Given the description of an element on the screen output the (x, y) to click on. 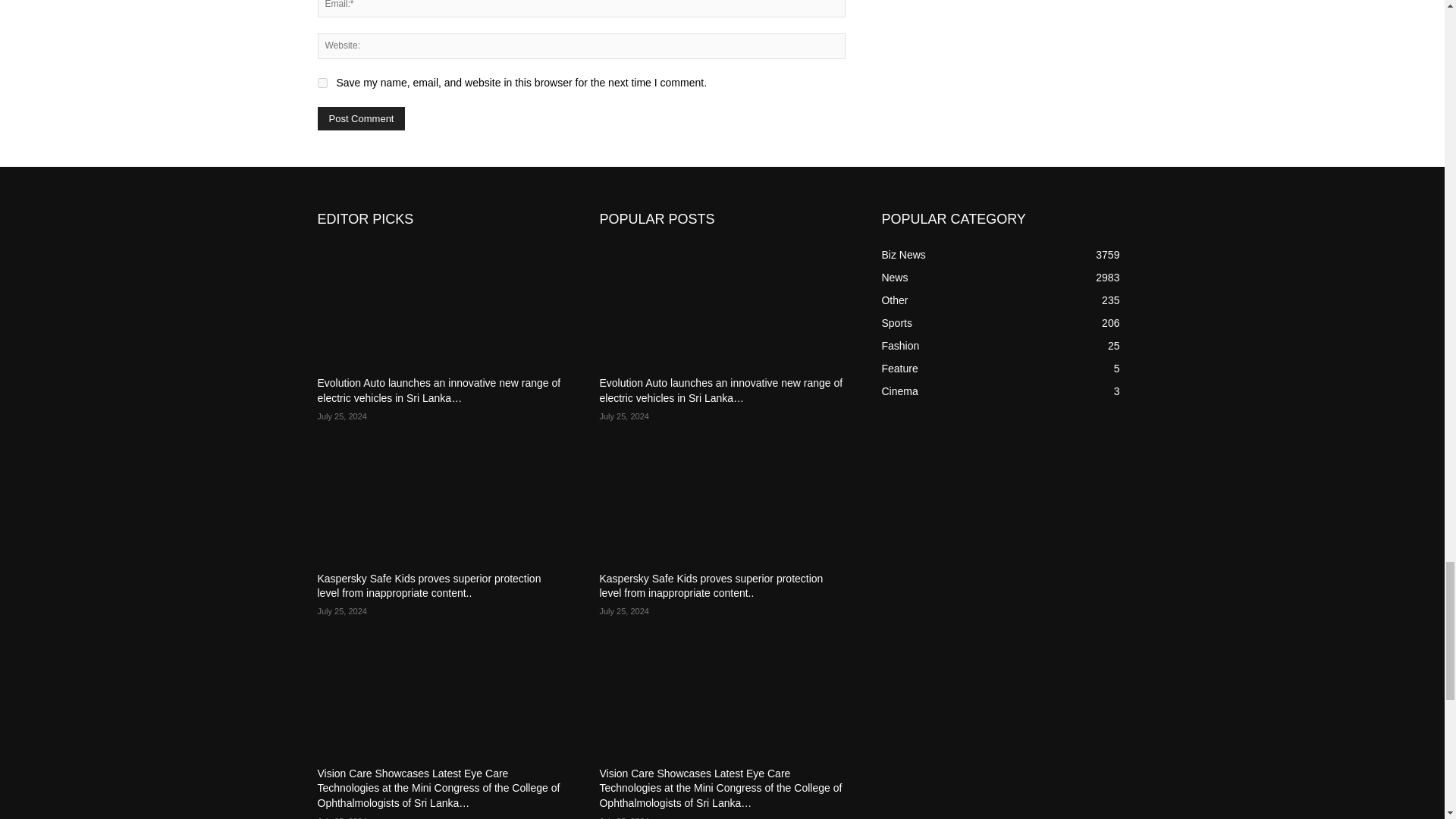
yes (321, 82)
Post Comment (360, 118)
